Given the description of an element on the screen output the (x, y) to click on. 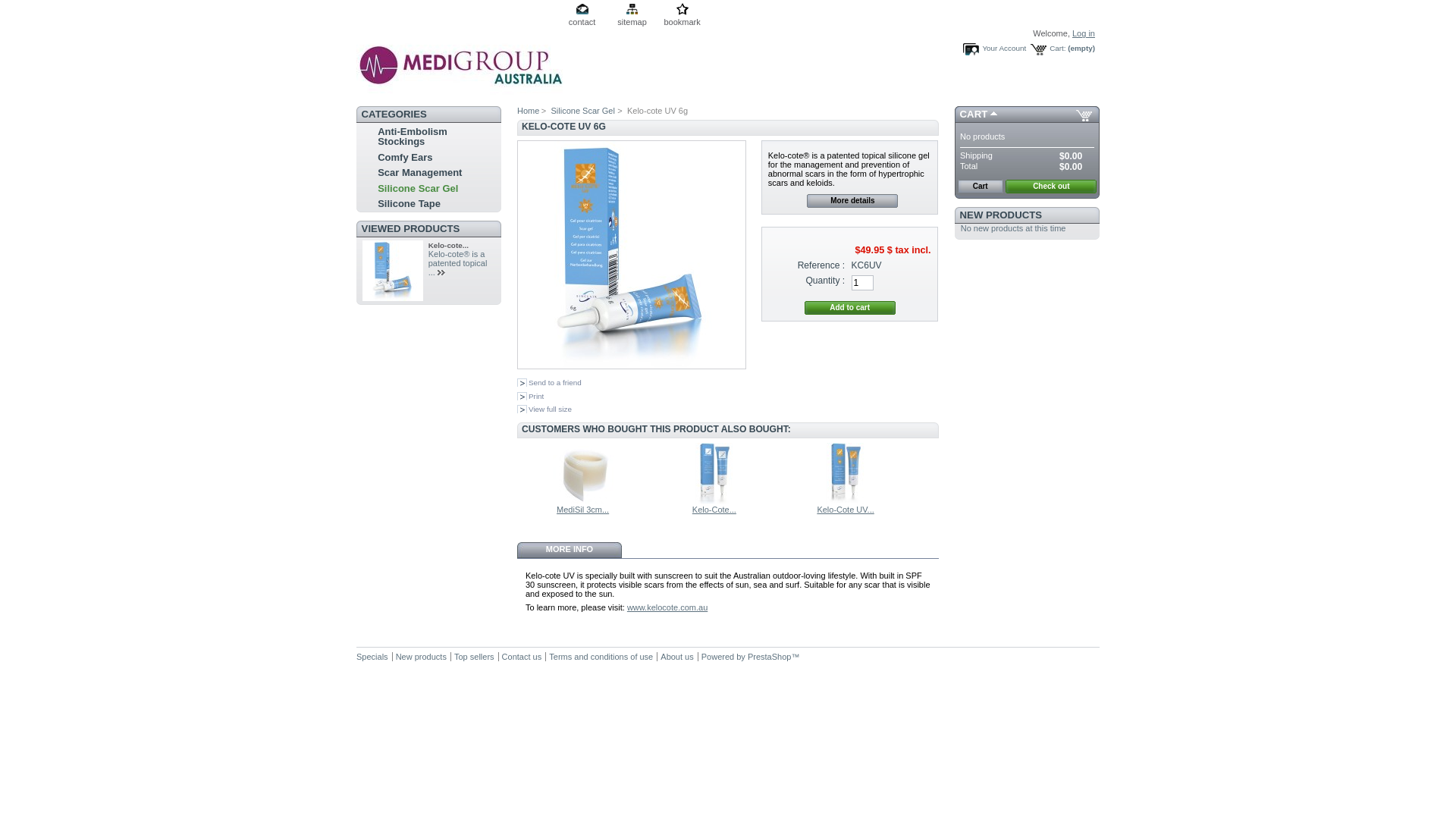
Cart: Element type: text (1047, 48)
Send to a friend Element type: text (549, 382)
bookmark Element type: text (682, 15)
Kelo-Cote 15g Tube Element type: hover (714, 500)
Kelo-cote UV 6g Element type: hover (631, 254)
Kelo-Cote UV 15g Tube Element type: hover (845, 500)
Add to cart Element type: text (849, 307)
MediSil 3cm... Element type: text (582, 509)
Check out Element type: text (1050, 186)
Cart Element type: text (980, 186)
About us Element type: text (676, 656)
Kelo-Cote UV... Element type: text (844, 509)
Home Element type: text (529, 110)
New products Element type: text (420, 656)
Comfy Ears Element type: text (404, 157)
PrestaShop Element type: text (768, 656)
More about Kelo-cote UV 6g Element type: hover (443, 272)
Kelo-cote... Element type: text (448, 245)
Print Element type: text (530, 396)
Terms and conditions of use Element type: text (600, 656)
Top sellers Element type: text (474, 656)
Silicone Scar Gel Element type: text (417, 188)
contact Element type: text (582, 15)
CART Element type: text (974, 113)
More details Element type: text (851, 200)
Silicone Tape Element type: text (408, 203)
Contact us Element type: text (522, 656)
Silicone Scar Gel Element type: text (582, 110)
sitemap Element type: text (632, 15)
www.kelocote.com.au Element type: text (667, 606)
NEW PRODUCTS Element type: text (1000, 214)
Anti-Embolism Stockings Element type: text (412, 136)
MORE INFO Element type: text (569, 550)
Kelo-Cote... Element type: text (714, 509)
Specials Element type: text (372, 656)
Scar Management Element type: text (419, 172)
Your Account Element type: text (994, 48)
Log in Element type: text (1083, 32)
MediSil 3cm x 1.5m Element type: hover (582, 500)
MediGroup Store Element type: hover (461, 95)
